Given the description of an element on the screen output the (x, y) to click on. 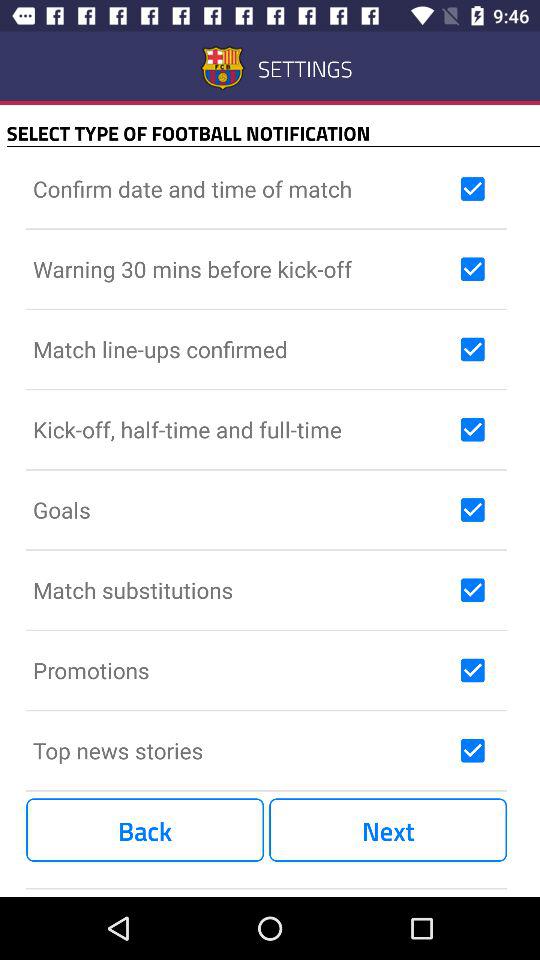
press the match substitutions icon (242, 589)
